Given the description of an element on the screen output the (x, y) to click on. 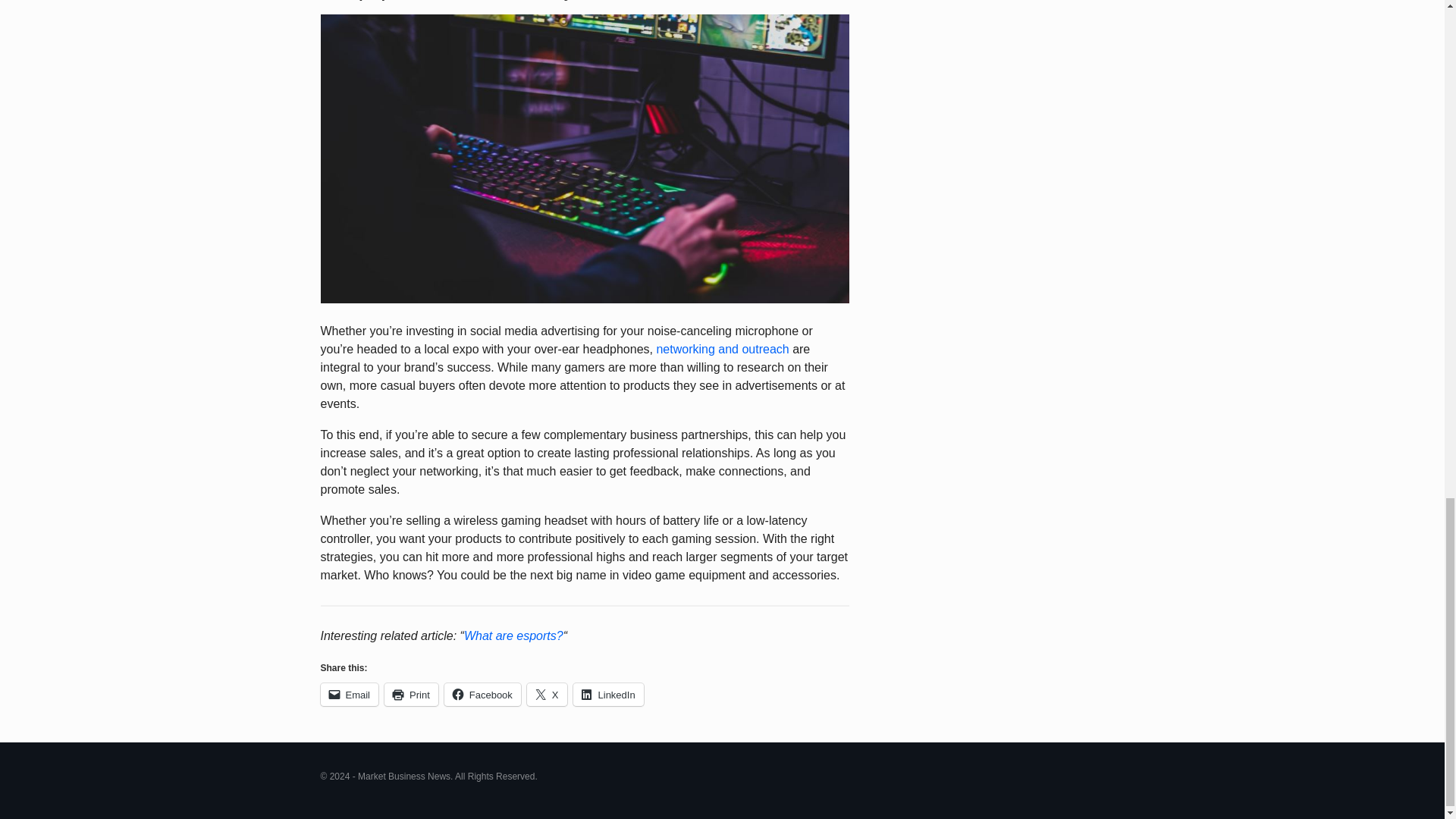
What are esports? (513, 635)
Click to print (411, 694)
Click to share on LinkedIn (608, 694)
Print (411, 694)
networking and outreach (722, 349)
Click to share on X (547, 694)
Click to share on Facebook (482, 694)
Click to email a link to a friend (349, 694)
LinkedIn (608, 694)
Facebook (482, 694)
Email (349, 694)
X (547, 694)
